Given the description of an element on the screen output the (x, y) to click on. 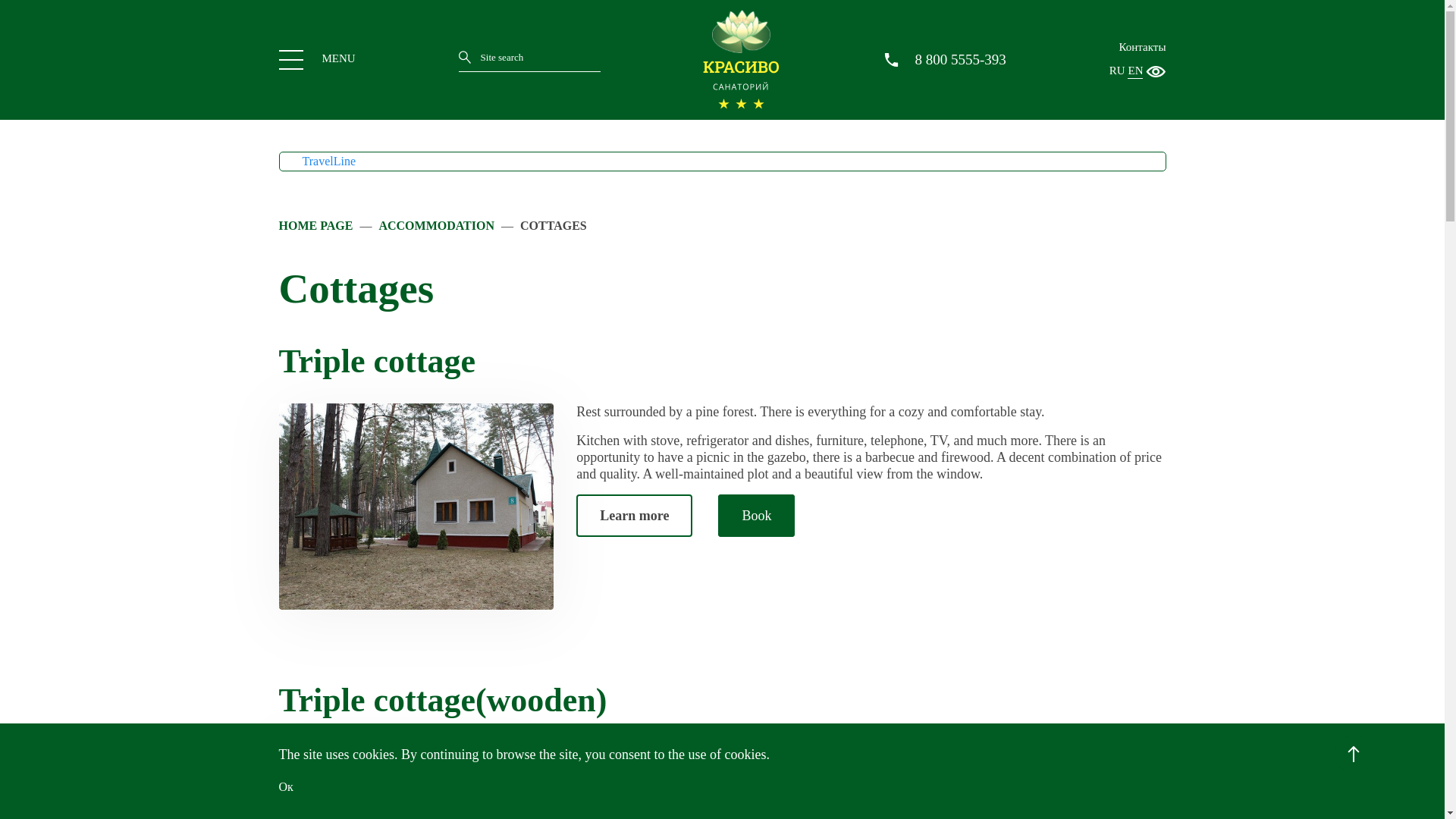
MENU (317, 59)
EN (1134, 71)
8 800 5555-393 (960, 59)
RU (1117, 70)
